Given the description of an element on the screen output the (x, y) to click on. 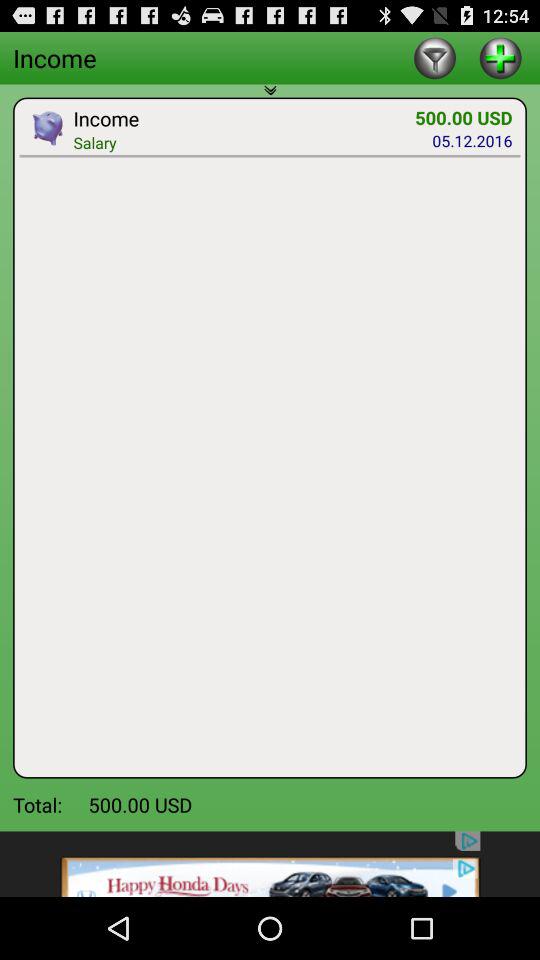
view advertisement (270, 864)
